Given the description of an element on the screen output the (x, y) to click on. 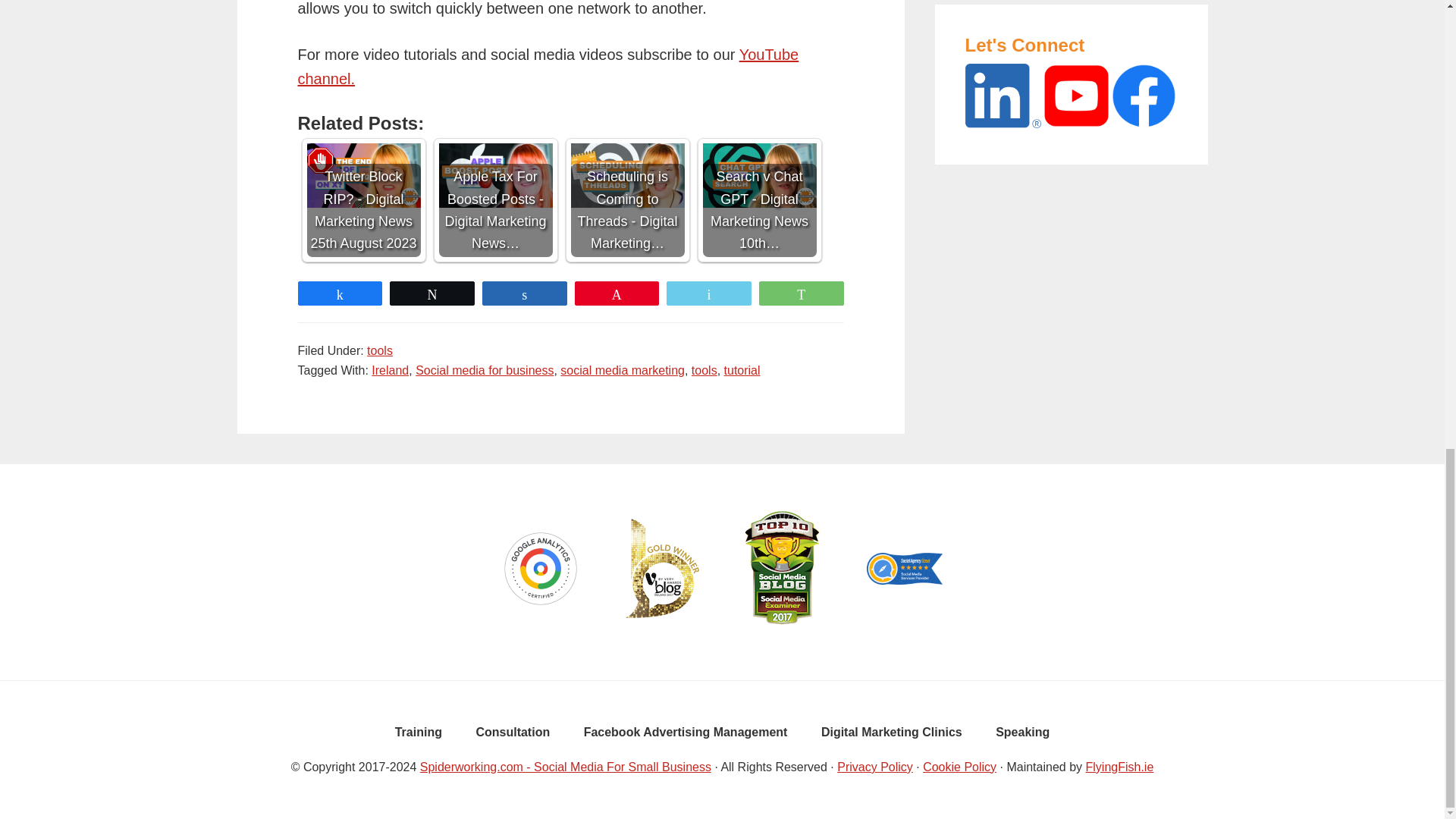
Social media for business (483, 369)
social media marketing (622, 369)
tools (379, 350)
YouTube channel. (547, 66)
Twitter Block RIP? - Digital Marketing News 25th August 2023 (362, 200)
Ireland (390, 369)
Twitter Block RIP? - Digital Marketing News 25th August 2023 (362, 175)
